Given the description of an element on the screen output the (x, y) to click on. 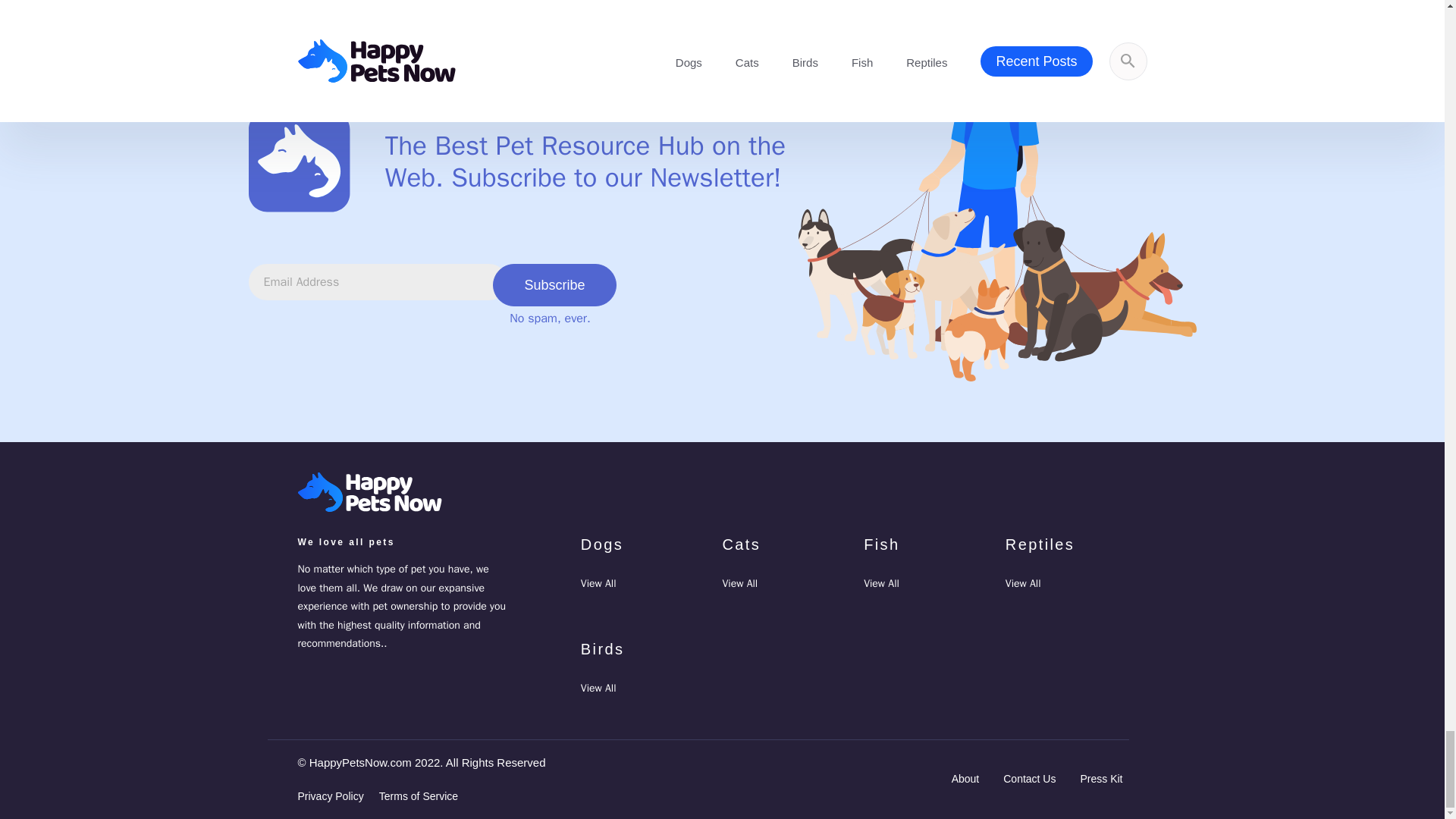
About (965, 778)
Subscribe (554, 284)
View All (597, 687)
View All (739, 583)
Contact Us (1029, 778)
Subscribe (554, 284)
View All (881, 583)
View All (1023, 583)
Logo 3 (299, 161)
